Given the description of an element on the screen output the (x, y) to click on. 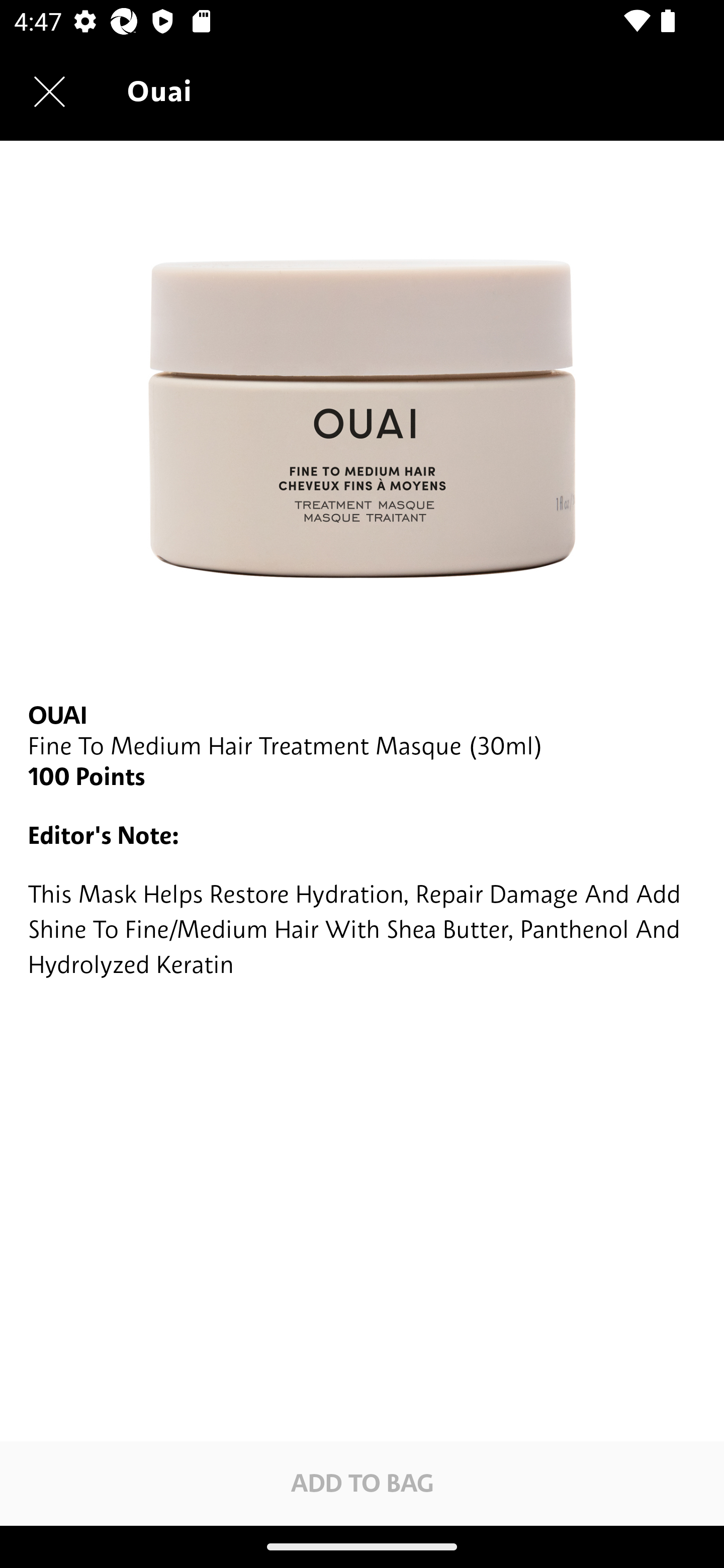
ADD TO BAG (362, 1482)
